Given the description of an element on the screen output the (x, y) to click on. 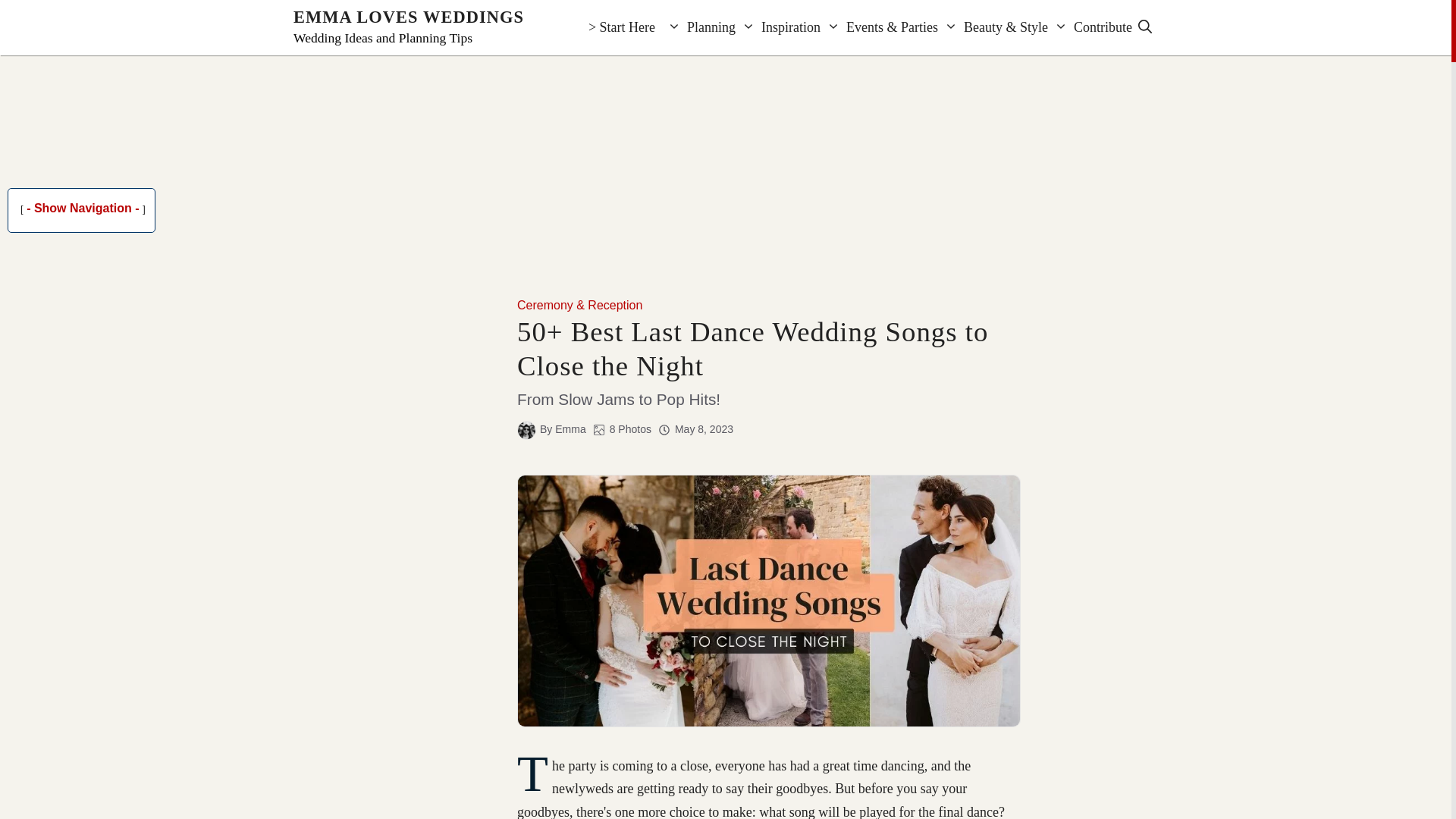
EMMA LOVES WEDDINGS (409, 16)
Contribute (1090, 27)
Planning (698, 27)
Best Last Dance Wedding Songs to Close the Night (768, 601)
emma meta (525, 429)
Inspiration (778, 27)
